Given the description of an element on the screen output the (x, y) to click on. 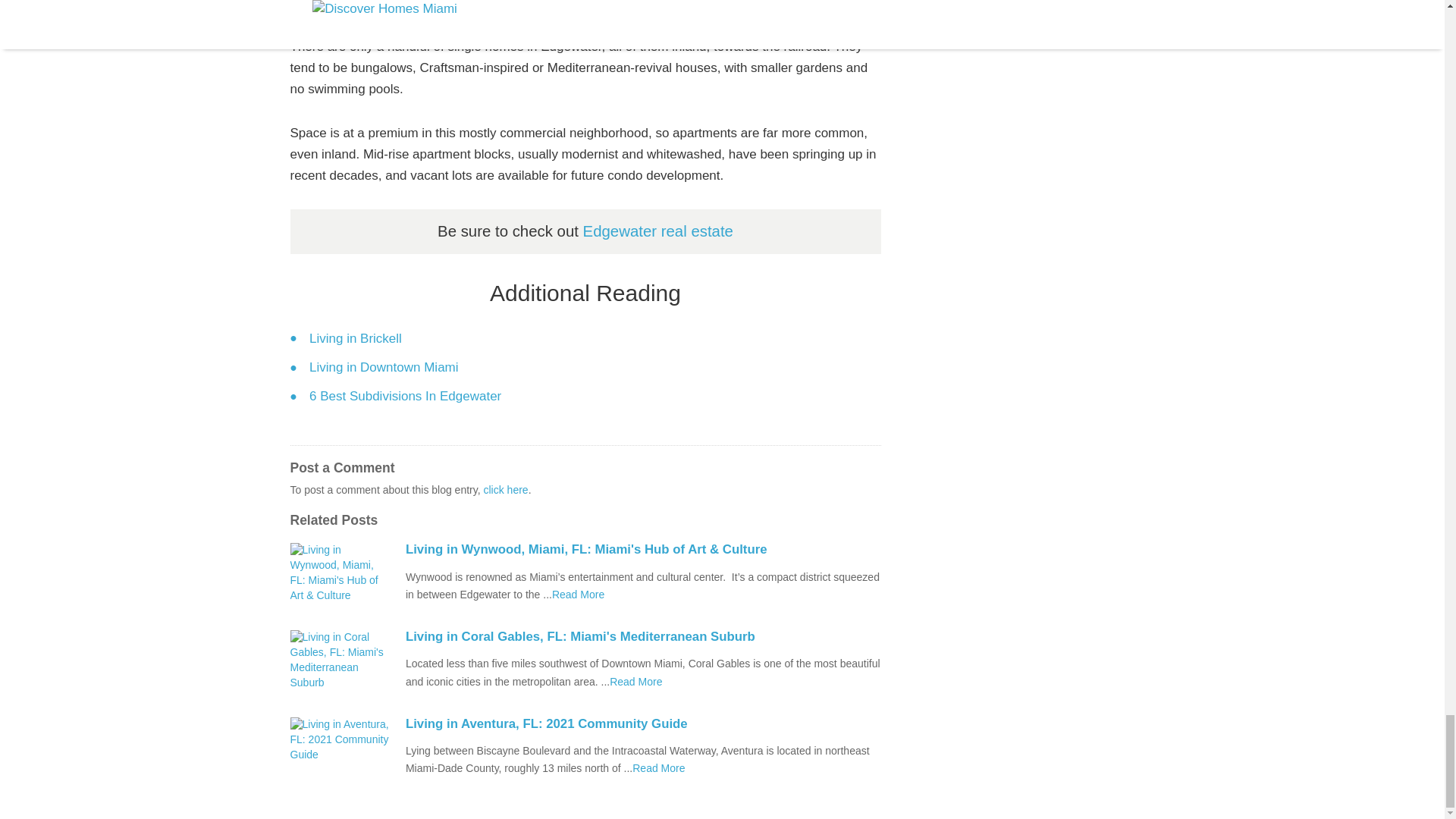
Living in Edgewater, Miami, FL: 2021 Neighborhood Guide (636, 681)
Living in Edgewater, Miami, FL: 2021 Neighborhood Guide (657, 767)
Living in Aventura, FL: 2021 Community Guide (643, 724)
Living in Edgewater, Miami, FL: 2021 Neighborhood Guide (577, 594)
Living in Coral Gables, FL: Miami's Mediterranean Suburb (643, 636)
